Given the description of an element on the screen output the (x, y) to click on. 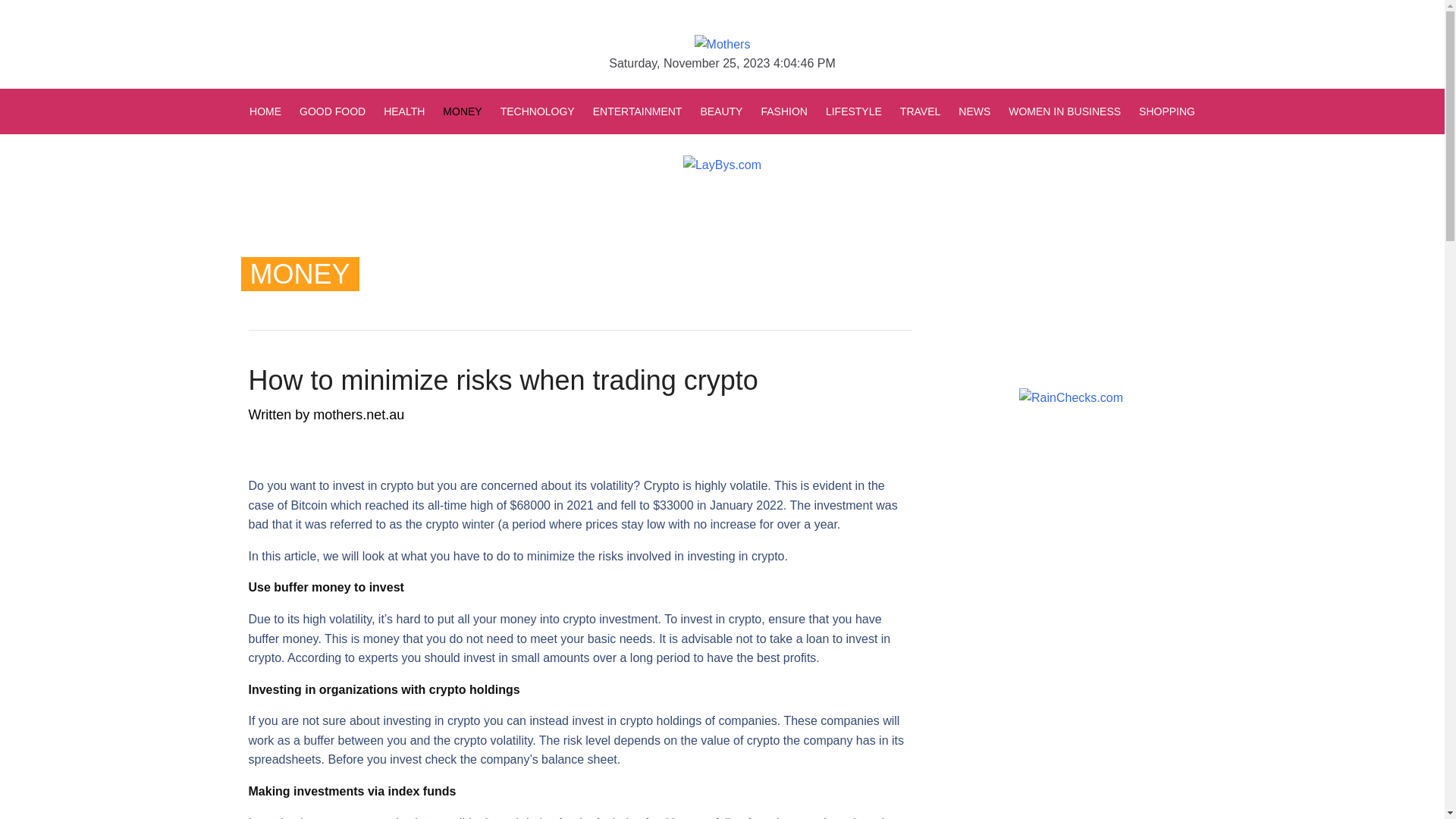
TECHNOLOGY Element type: text (537, 111)
HOME Element type: text (269, 111)
TRAVEL Element type: text (920, 111)
How to minimize risks when trading crypto Element type: text (503, 379)
BEAUTY Element type: text (720, 111)
MONEY Element type: text (461, 111)
HEALTH Element type: text (403, 111)
WOMEN IN BUSINESS Element type: text (1064, 111)
SHOPPING Element type: text (1162, 111)
FASHION Element type: text (783, 111)
NEWS Element type: text (974, 111)
LIFESTYLE Element type: text (853, 111)
GOOD FOOD Element type: text (332, 111)
ENTERTAINMENT Element type: text (637, 111)
